Given the description of an element on the screen output the (x, y) to click on. 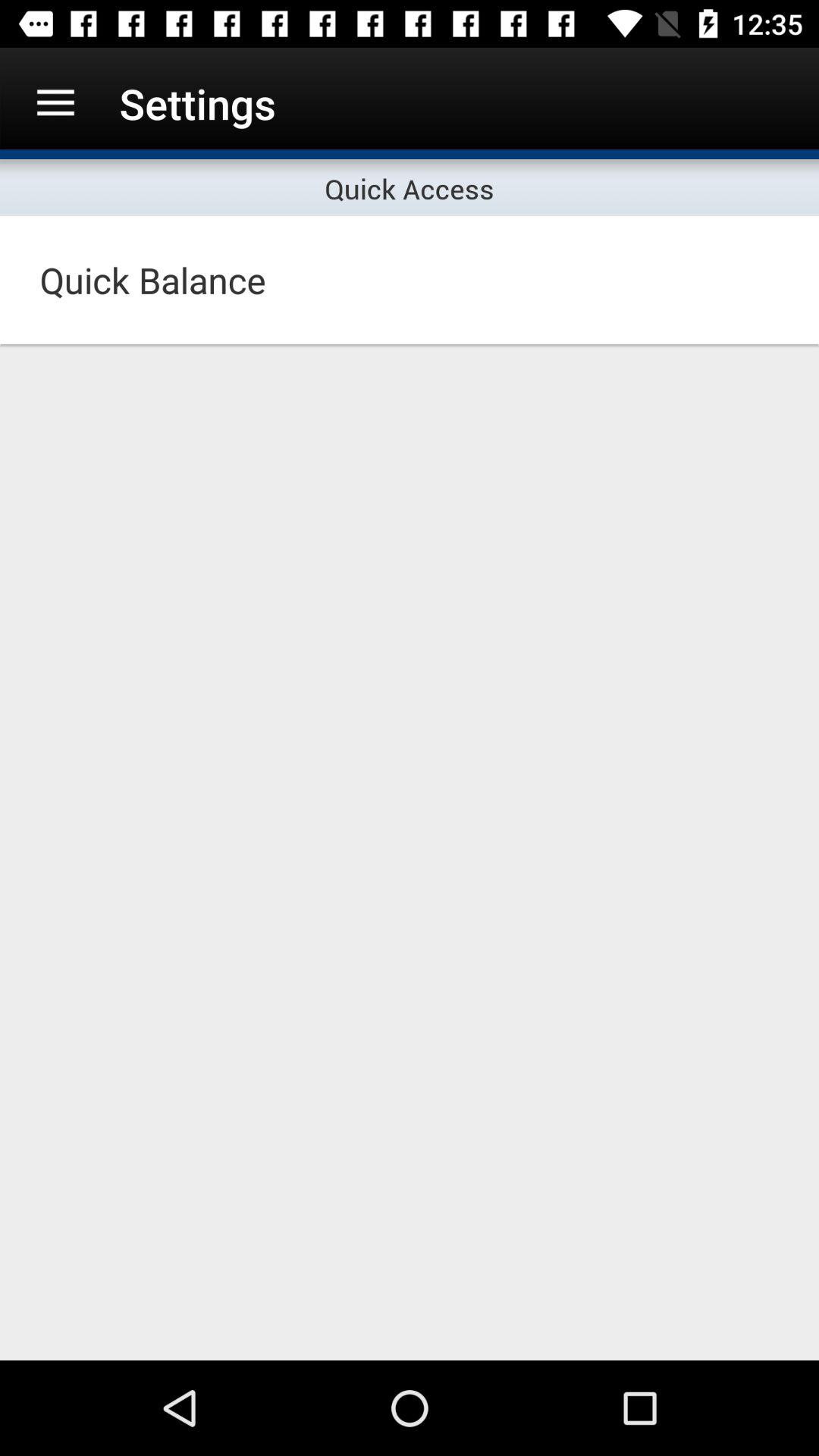
turn off the item next to settings icon (55, 103)
